Given the description of an element on the screen output the (x, y) to click on. 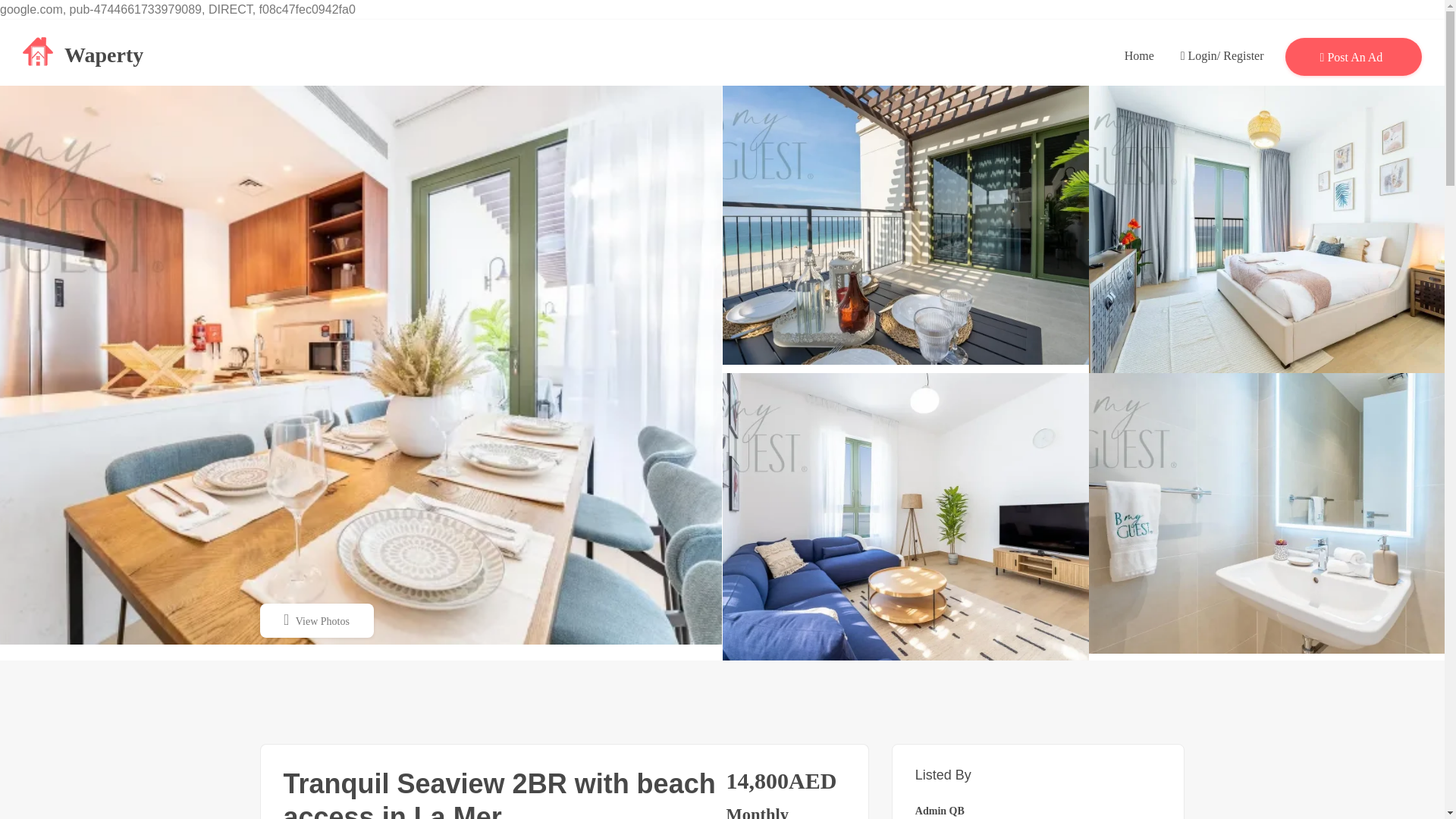
Waperty (82, 51)
View Photos (315, 620)
Post An Ad (1353, 54)
